Given the description of an element on the screen output the (x, y) to click on. 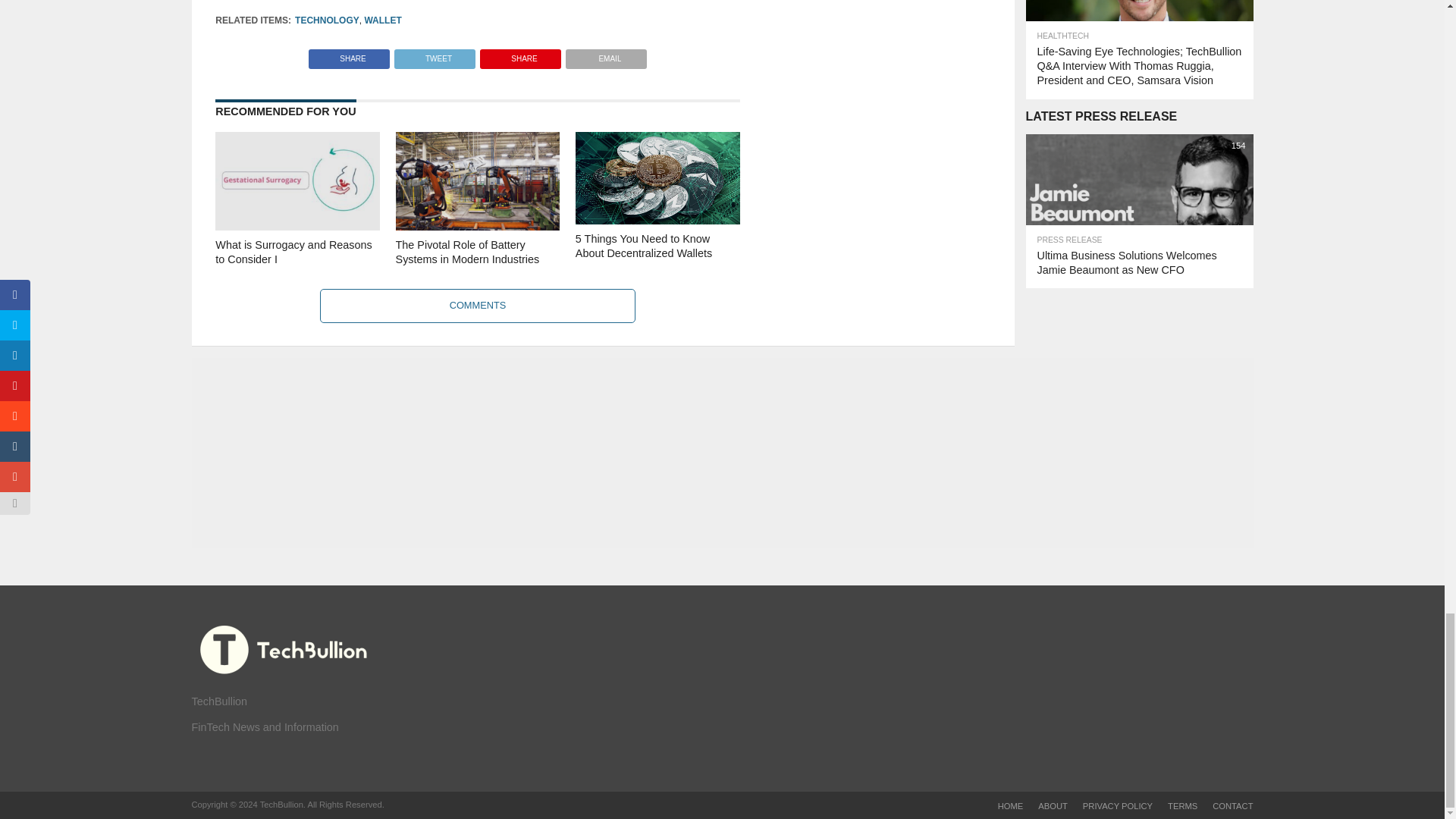
Share on Facebook (349, 54)
Pin This Post (520, 54)
What is Surrogacy and Reasons to Consider I (297, 226)
Tweet This Post (434, 54)
The Pivotal Role of Battery Systems in Modern Industries (478, 226)
